Given the description of an element on the screen output the (x, y) to click on. 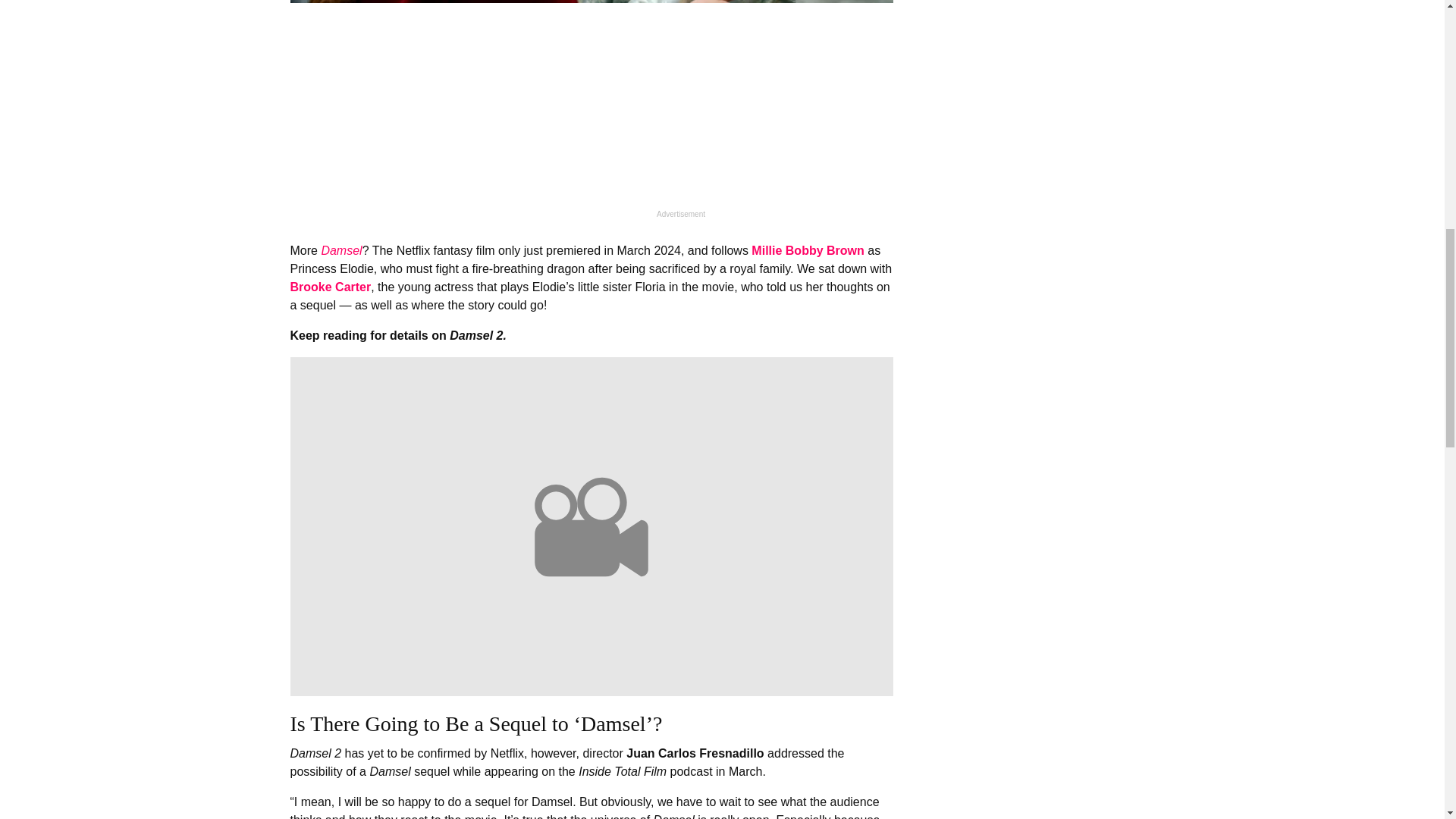
Millie Bobby Brown (807, 250)
3rd party ad content (590, 110)
Damsel (340, 250)
Brooke Carter (330, 286)
